Given the description of an element on the screen output the (x, y) to click on. 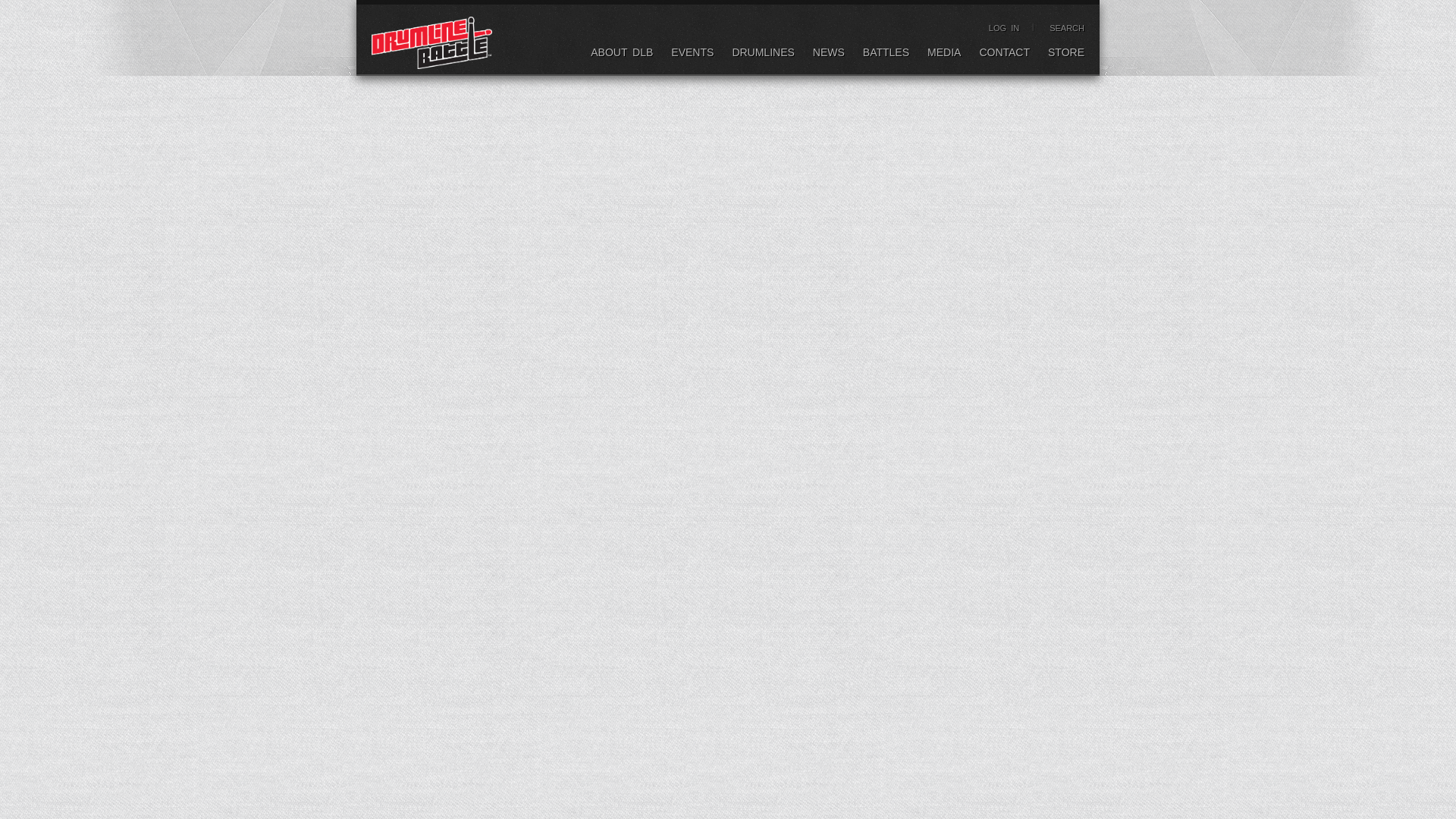
LOG IN (1003, 27)
MEDIA (943, 54)
DRUMLINES (762, 54)
ABOUT DLB (621, 54)
STORE (1066, 54)
CONTACT (1003, 54)
NEWS (828, 54)
SEARCH (1066, 27)
BATTLES (885, 54)
EVENTS (692, 54)
